Given the description of an element on the screen output the (x, y) to click on. 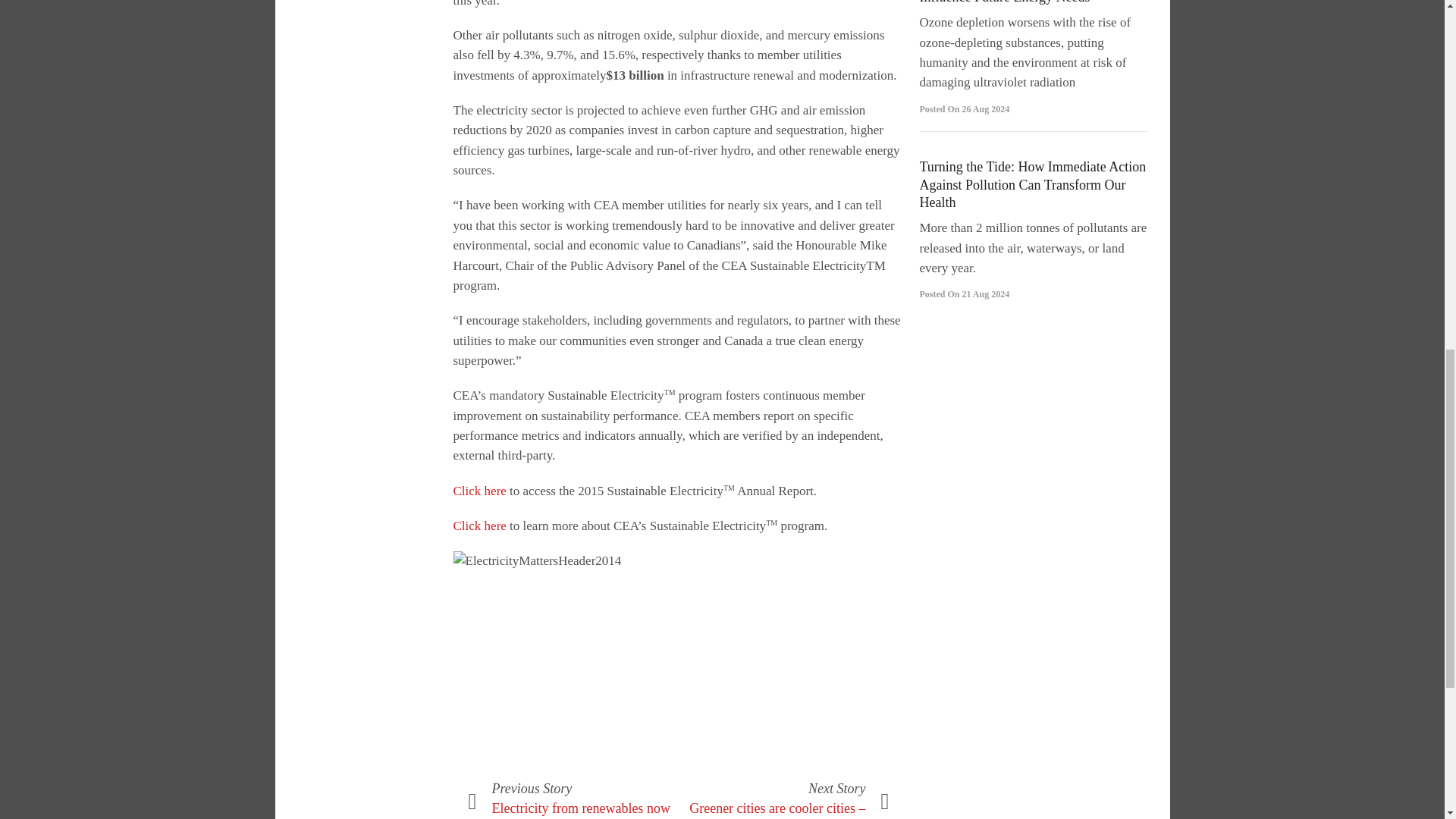
Click here (479, 490)
Electricity from renewables now as cheap as fossil fuels (580, 809)
Click here (479, 525)
